Given the description of an element on the screen output the (x, y) to click on. 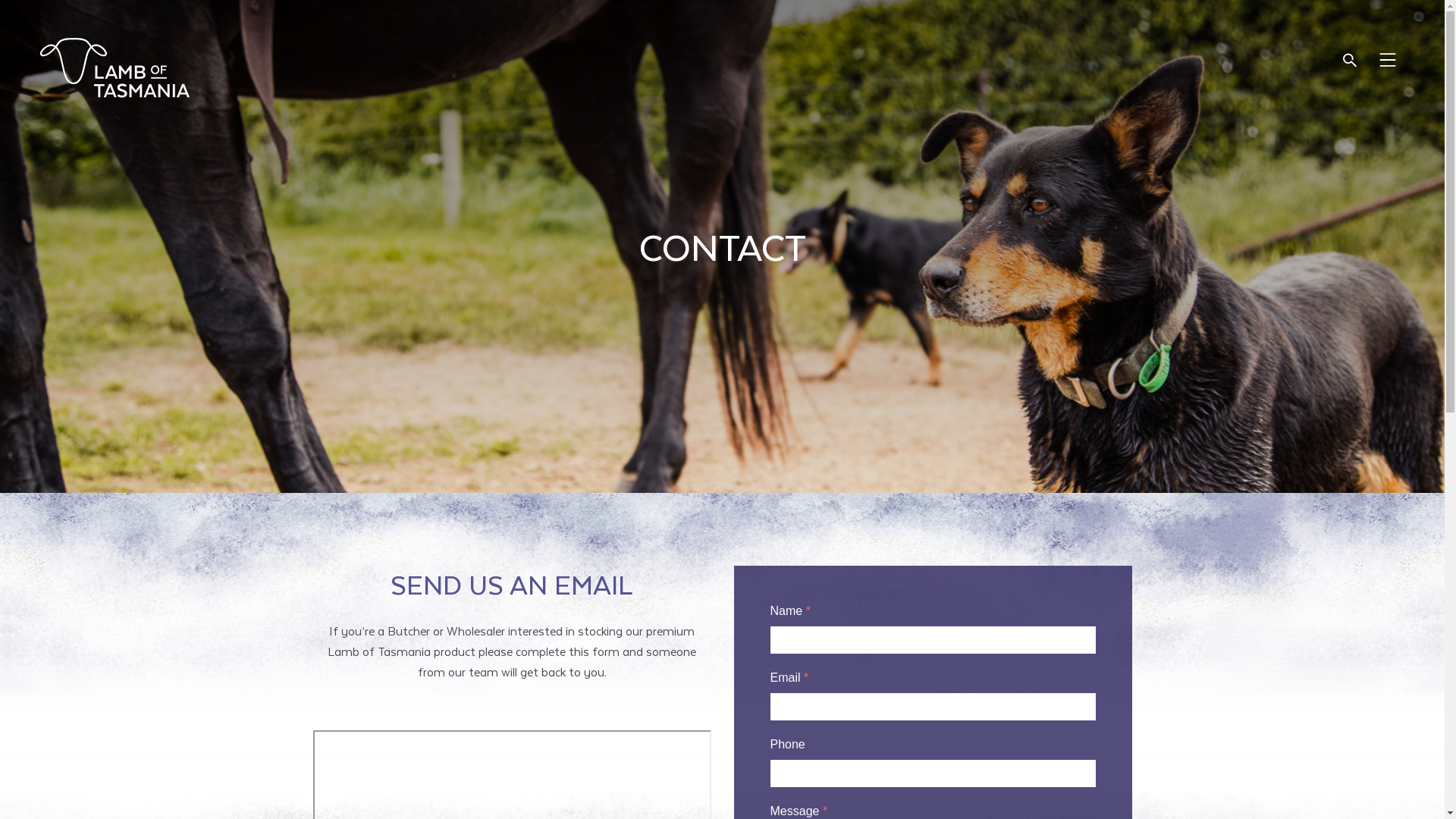
Lamb of Tasmania
LAMB OF TASMANIA Element type: text (113, 67)
